Given the description of an element on the screen output the (x, y) to click on. 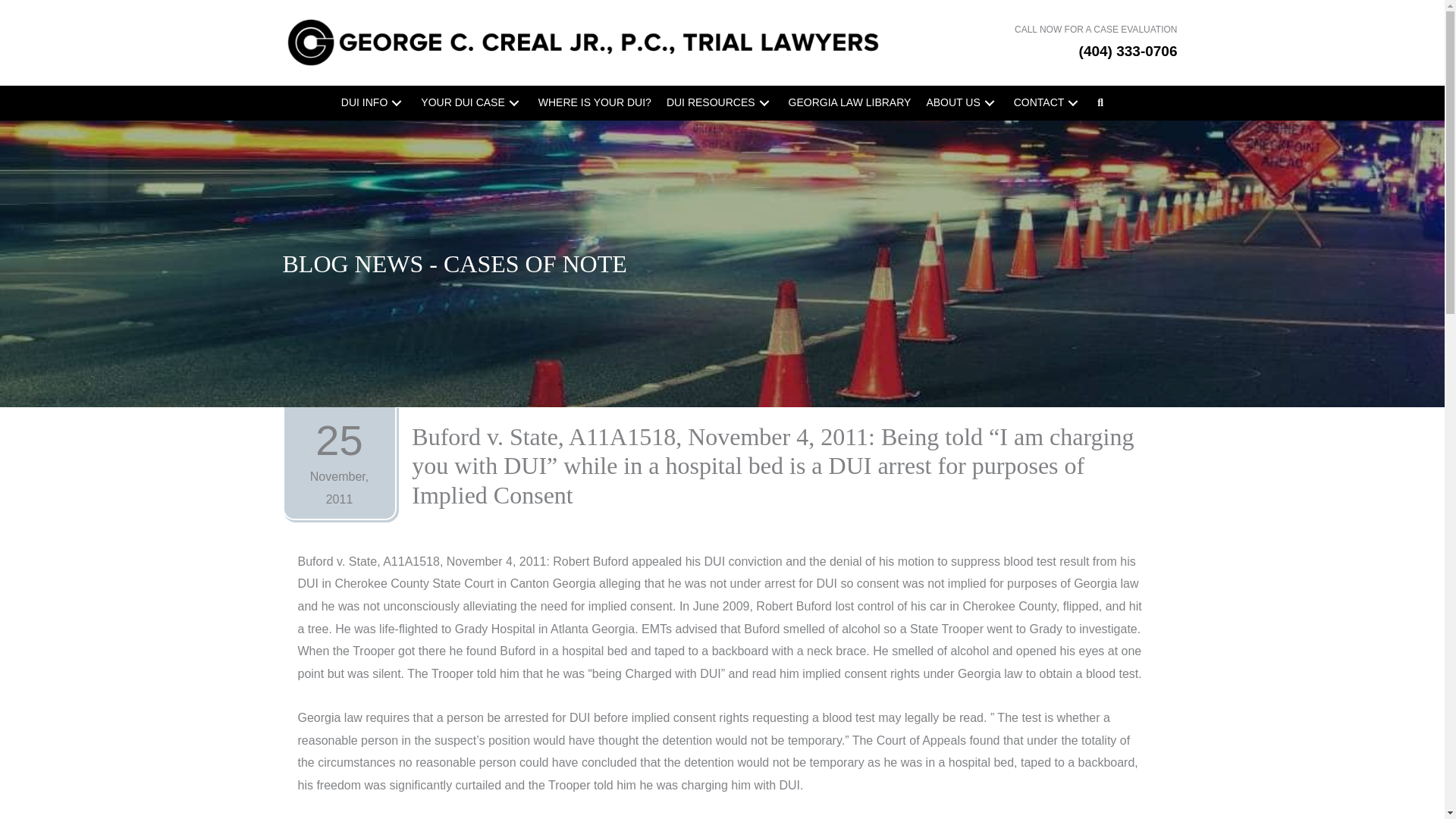
Creal Logo (608, 42)
YOUR DUI CASE (471, 102)
DUI INFO (373, 102)
